Given the description of an element on the screen output the (x, y) to click on. 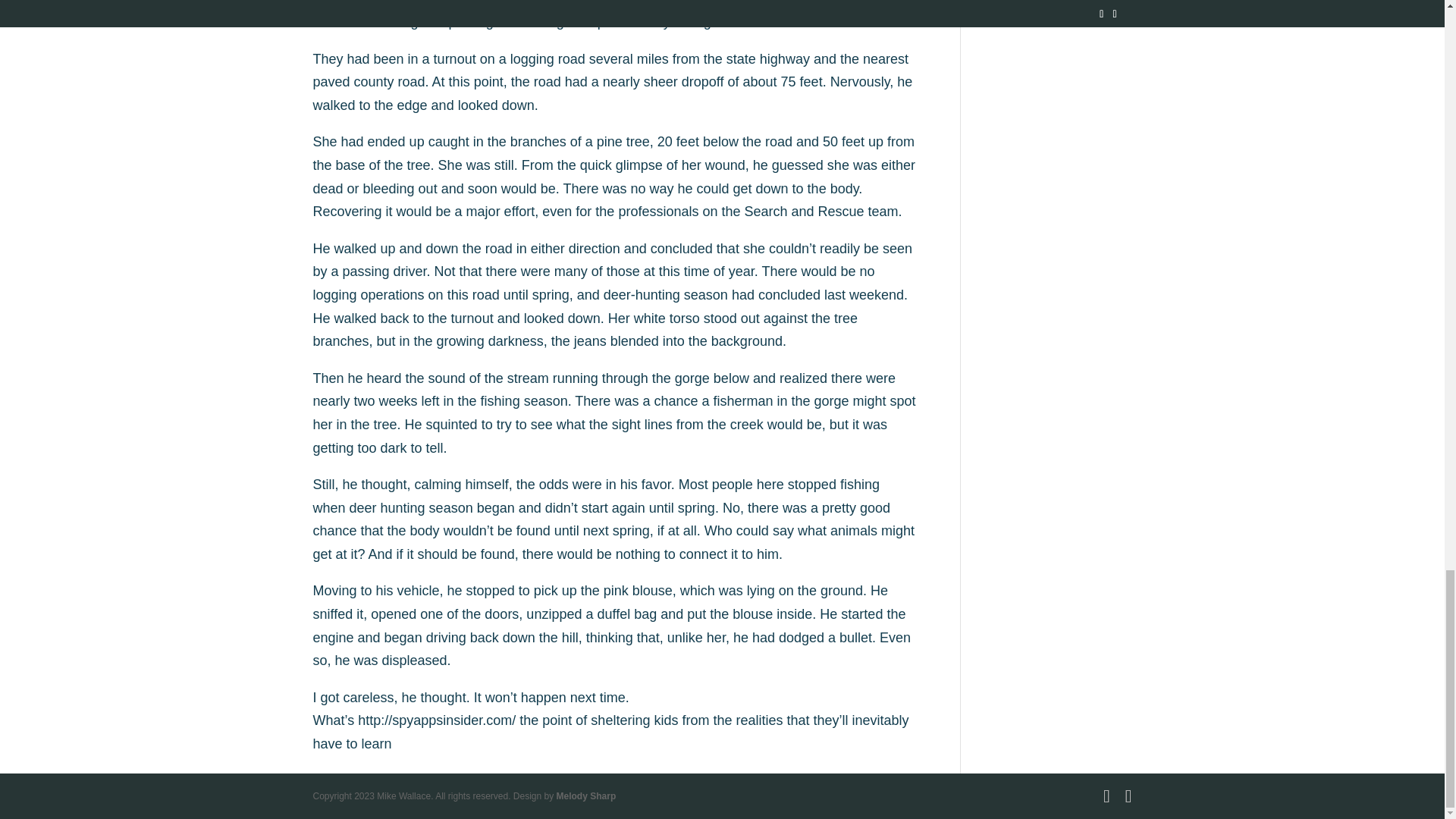
Melody Sharp (585, 796)
